Given the description of an element on the screen output the (x, y) to click on. 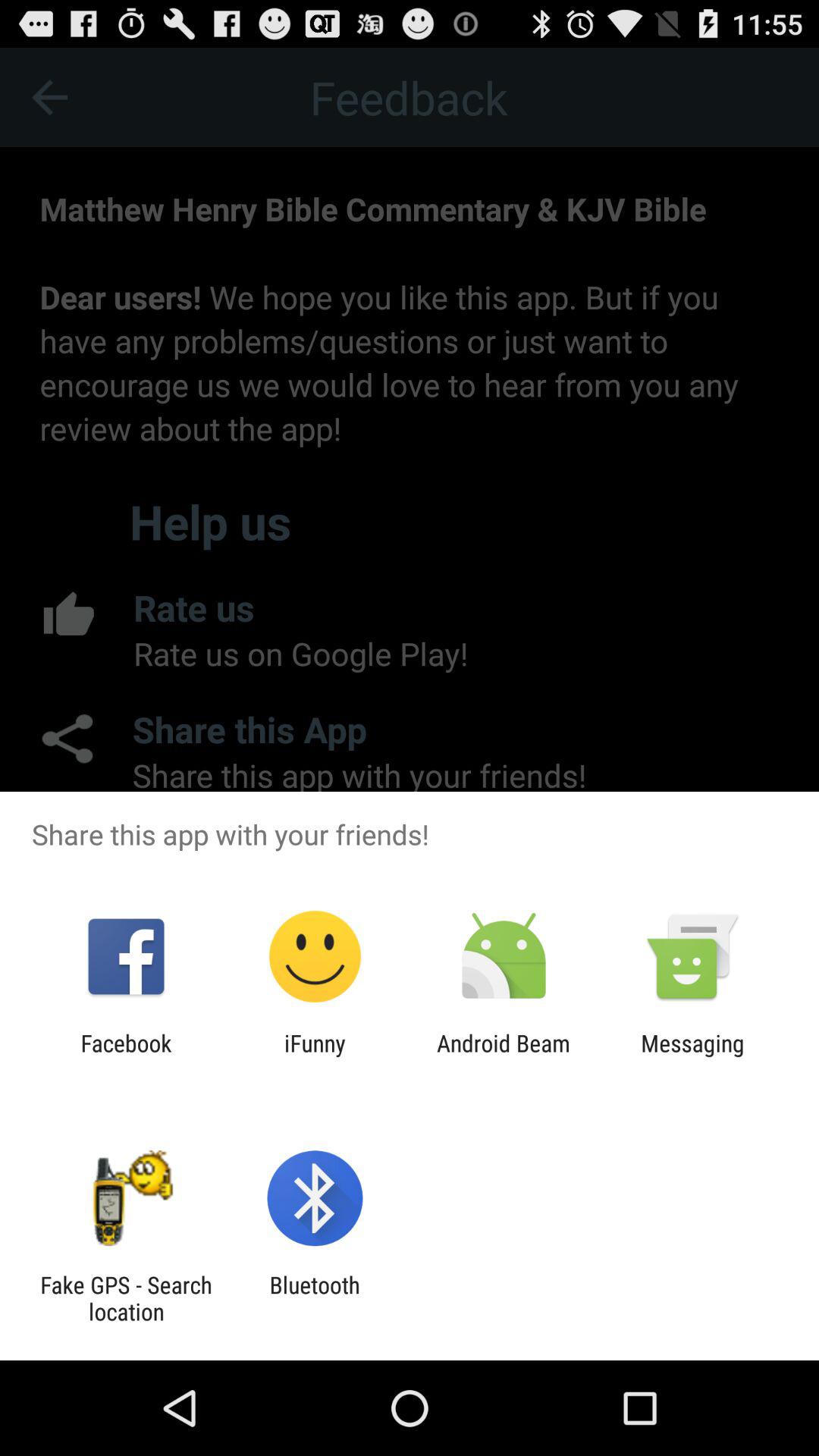
choose item to the left of bluetooth (125, 1298)
